Given the description of an element on the screen output the (x, y) to click on. 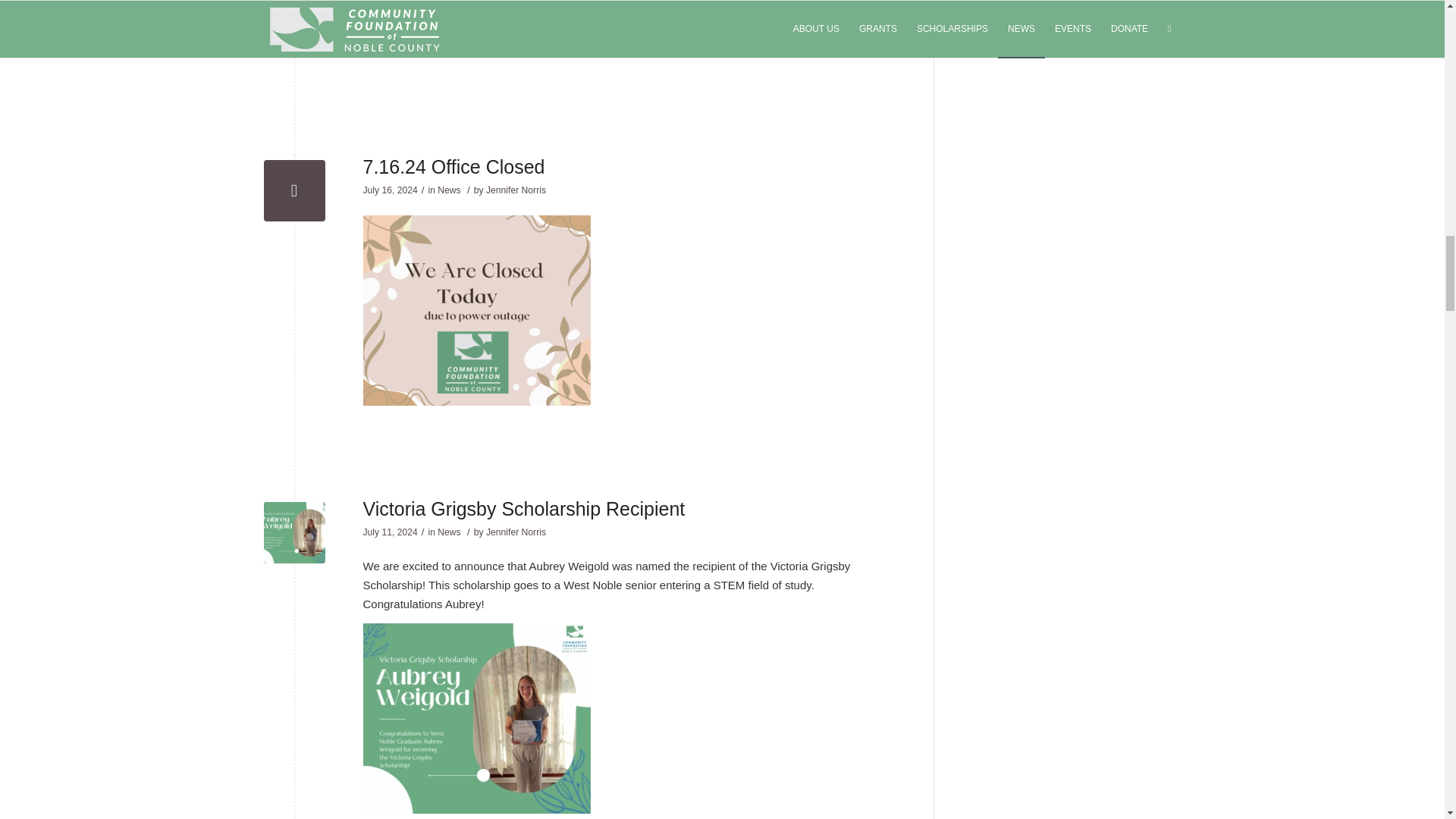
7.16.24 Office Closed (293, 189)
Permanent Link: 7.16.24 Office Closed (453, 166)
Permanent Link: Victoria Grigsby Scholarship Recipient (523, 507)
Posts by Jennifer Norris (516, 190)
Posts by Jennifer Norris (516, 531)
Victoria Grigsby Scholarship Recipient (293, 532)
